Given the description of an element on the screen output the (x, y) to click on. 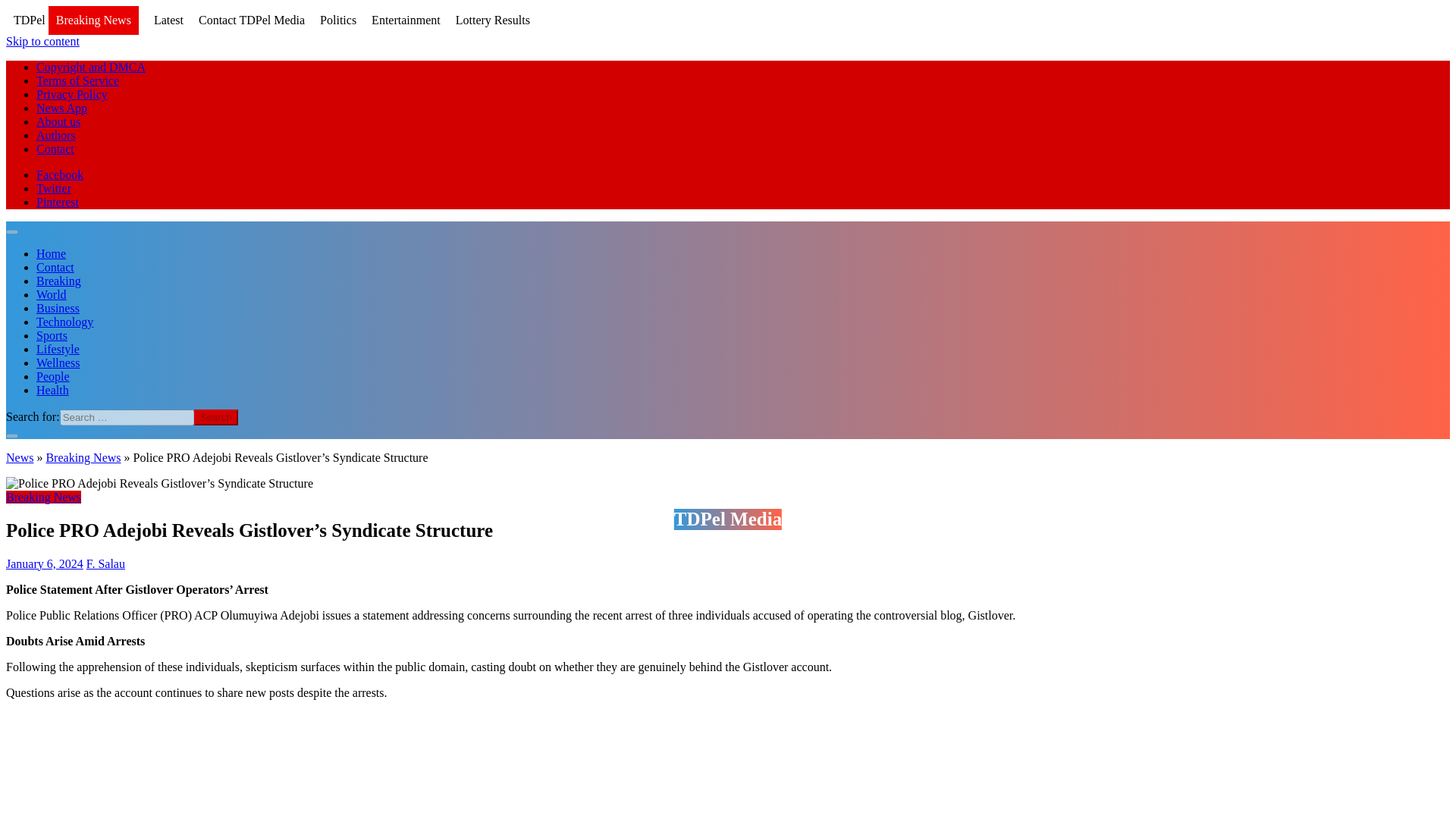
Terms of Service (77, 80)
Contact TDPel Media (251, 19)
January 6, 2024 (43, 562)
Politics (338, 19)
Breaking News (93, 20)
Twitter (53, 187)
Lifestyle (58, 349)
Search (215, 417)
Authors (55, 134)
Breaking (58, 280)
Health (52, 390)
F. Salau (105, 562)
Contact (55, 148)
TDPel (29, 19)
About us (58, 121)
